Given the description of an element on the screen output the (x, y) to click on. 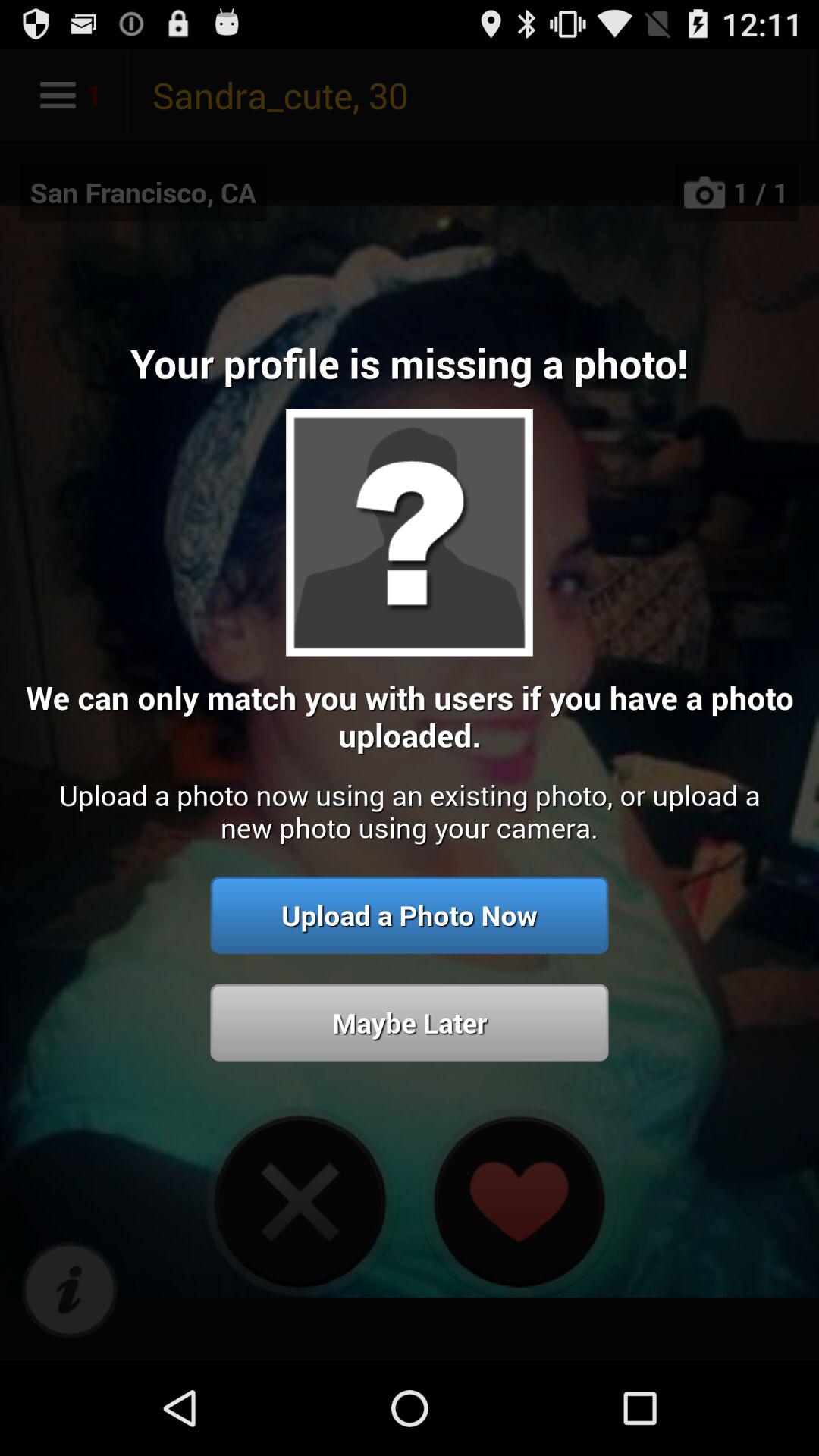
rejected option (299, 1200)
